Given the description of an element on the screen output the (x, y) to click on. 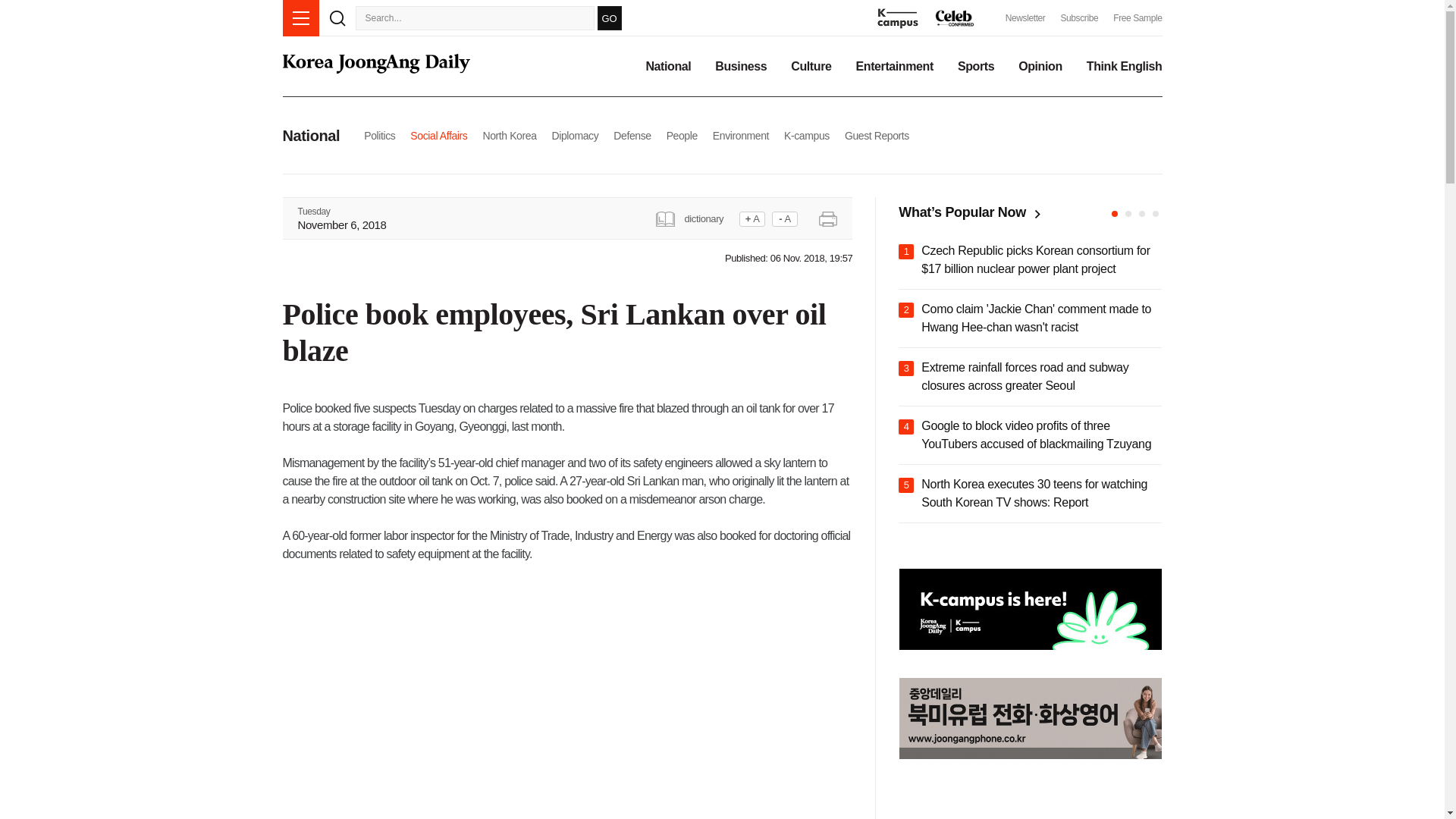
K-campus (806, 135)
North Korea (508, 135)
Culture (810, 66)
Free Sample (1137, 18)
Politics (379, 135)
People (681, 135)
Newsletter (1025, 18)
Diplomacy (574, 135)
Think English (1123, 66)
People (681, 135)
Guest Reports (876, 135)
GO (608, 17)
K-campus (806, 135)
Defense (631, 135)
Environment (740, 135)
